Given the description of an element on the screen output the (x, y) to click on. 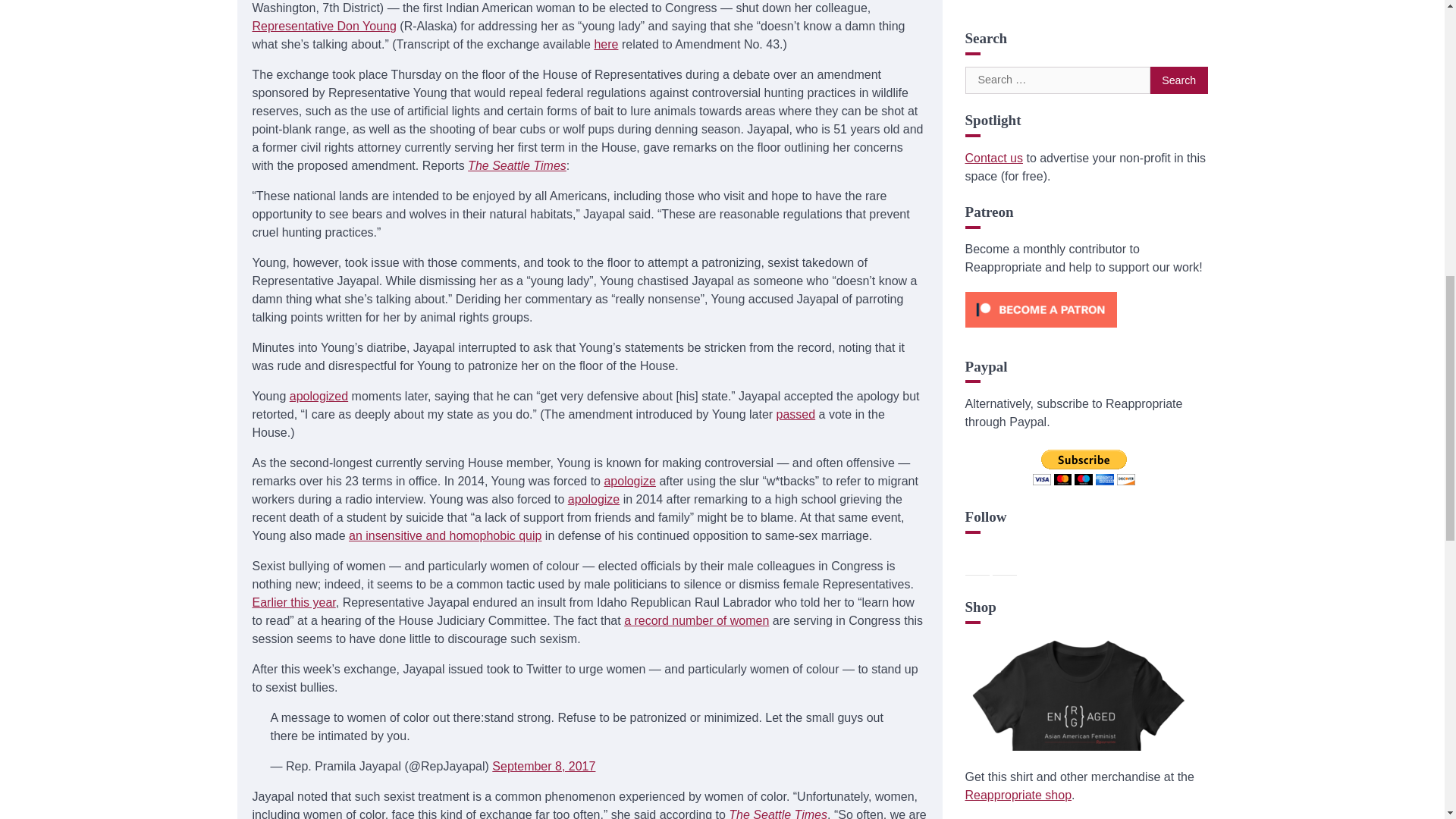
Representative Don Young (323, 25)
The Seattle Times (516, 164)
apologized (318, 395)
here (605, 43)
